Given the description of an element on the screen output the (x, y) to click on. 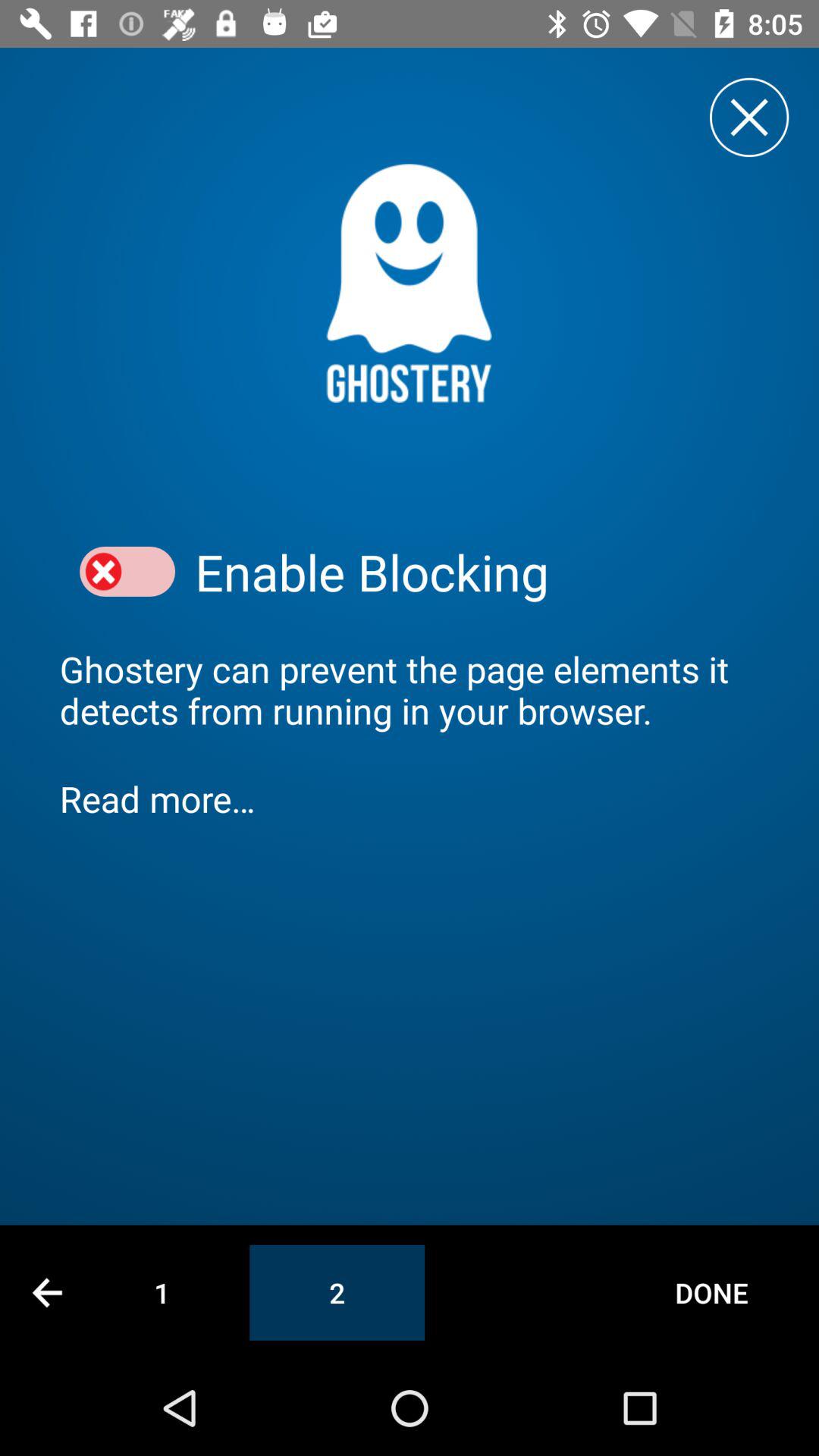
open item to the left of 1 item (46, 1292)
